Given the description of an element on the screen output the (x, y) to click on. 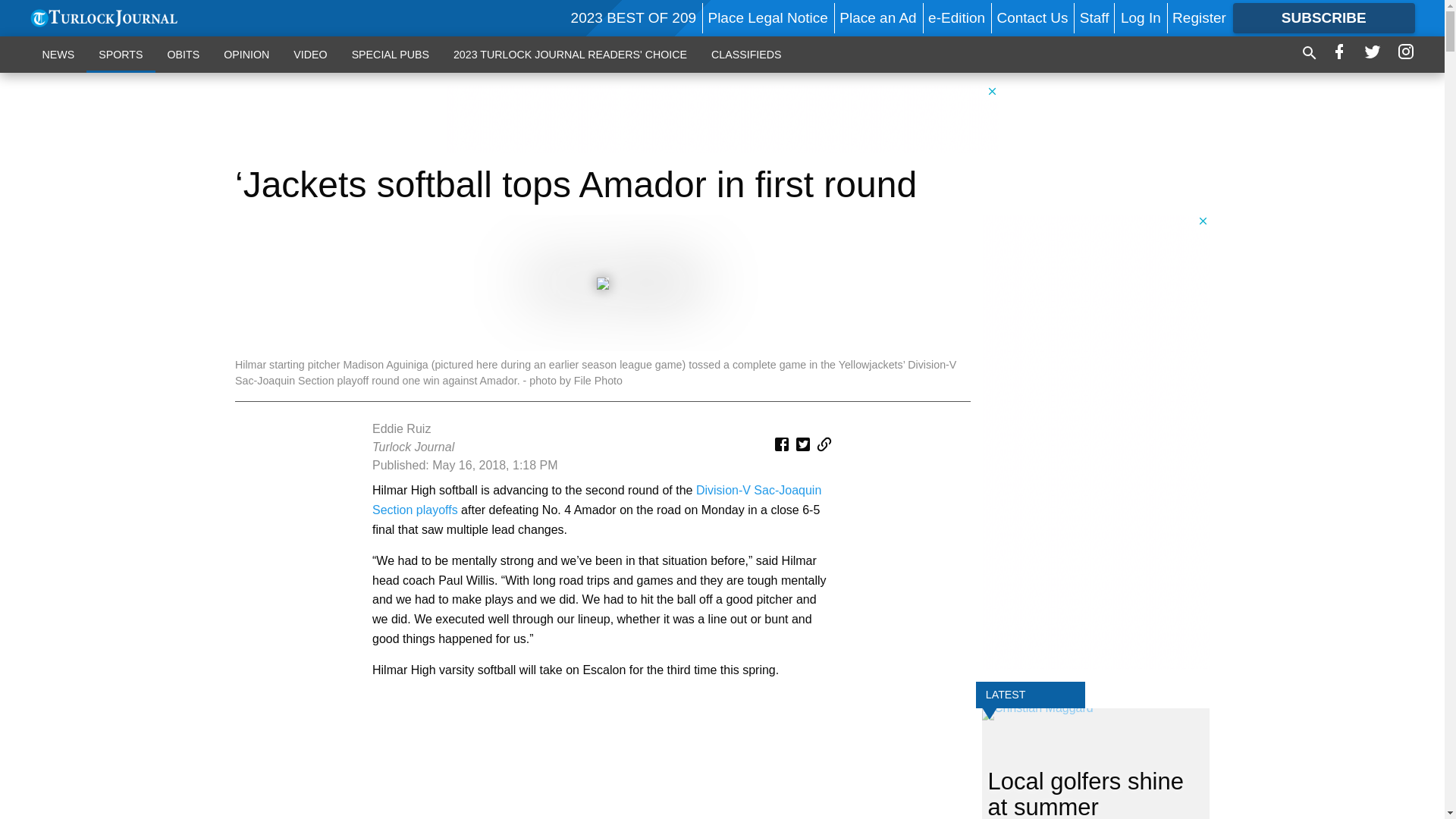
OBITS (182, 54)
3rd party ad content (721, 119)
3rd party ad content (602, 758)
Place Legal Notice (767, 17)
SPORTS (119, 54)
Log In (1140, 17)
Contact Us (1031, 17)
e-Edition (956, 17)
Register (1198, 17)
2023 BEST OF 209 (632, 17)
CLASSIFIEDS (745, 54)
SPECIAL PUBS (390, 54)
OPINION (246, 54)
NEWS (58, 54)
VIDEO (310, 54)
